Given the description of an element on the screen output the (x, y) to click on. 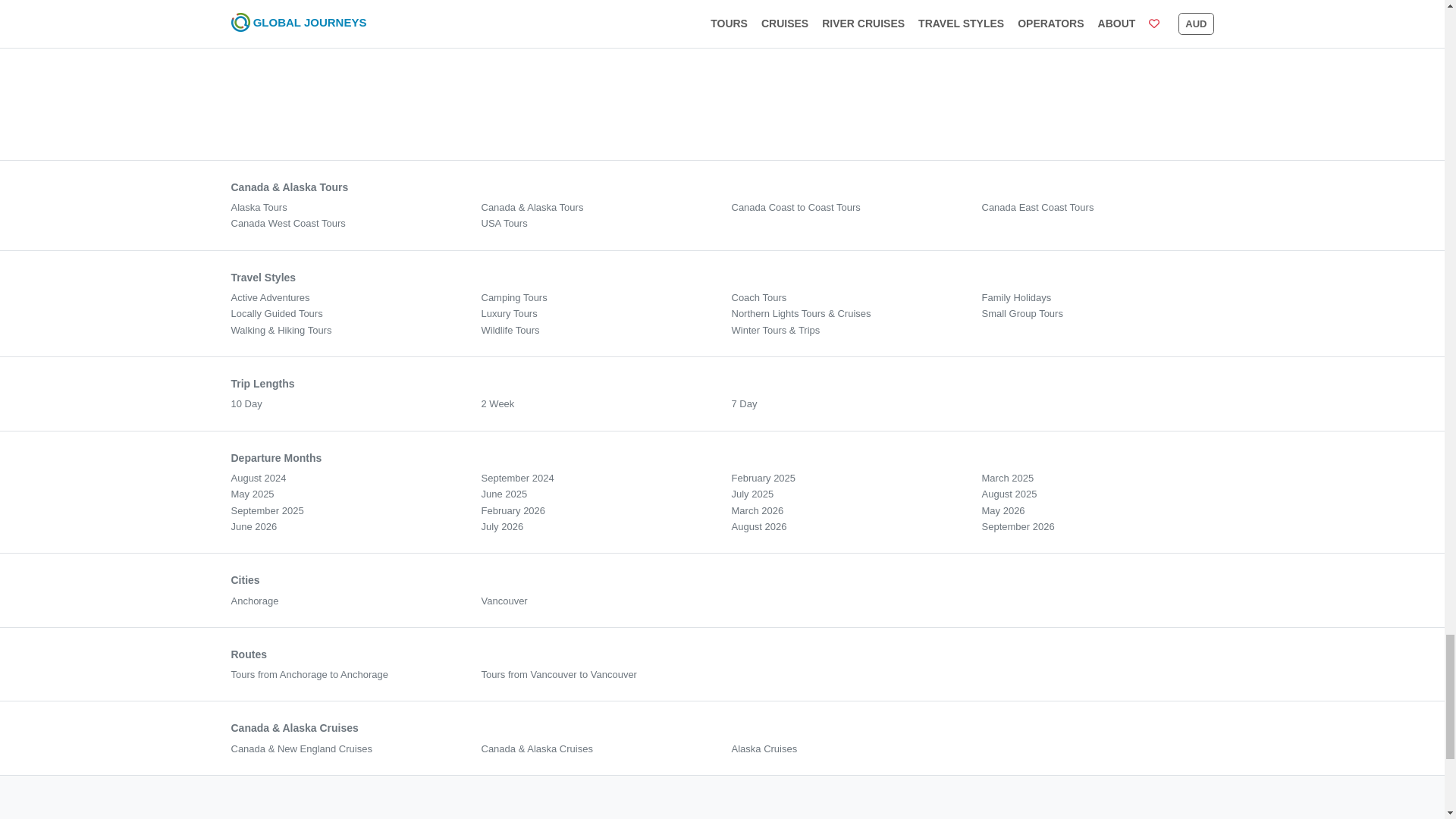
...read more (510, 2)
